Given the description of an element on the screen output the (x, y) to click on. 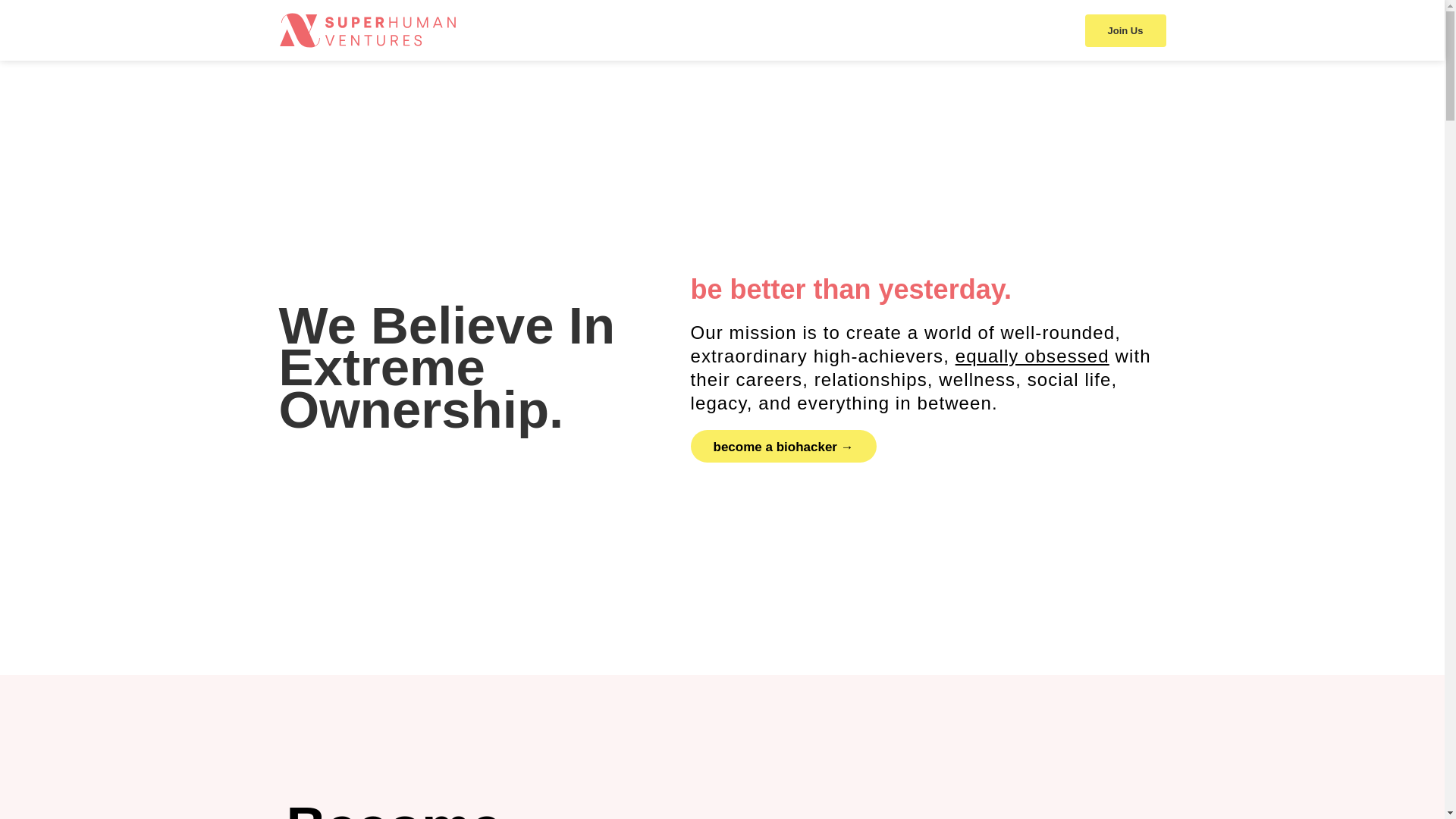
Join Us (1125, 29)
